Given the description of an element on the screen output the (x, y) to click on. 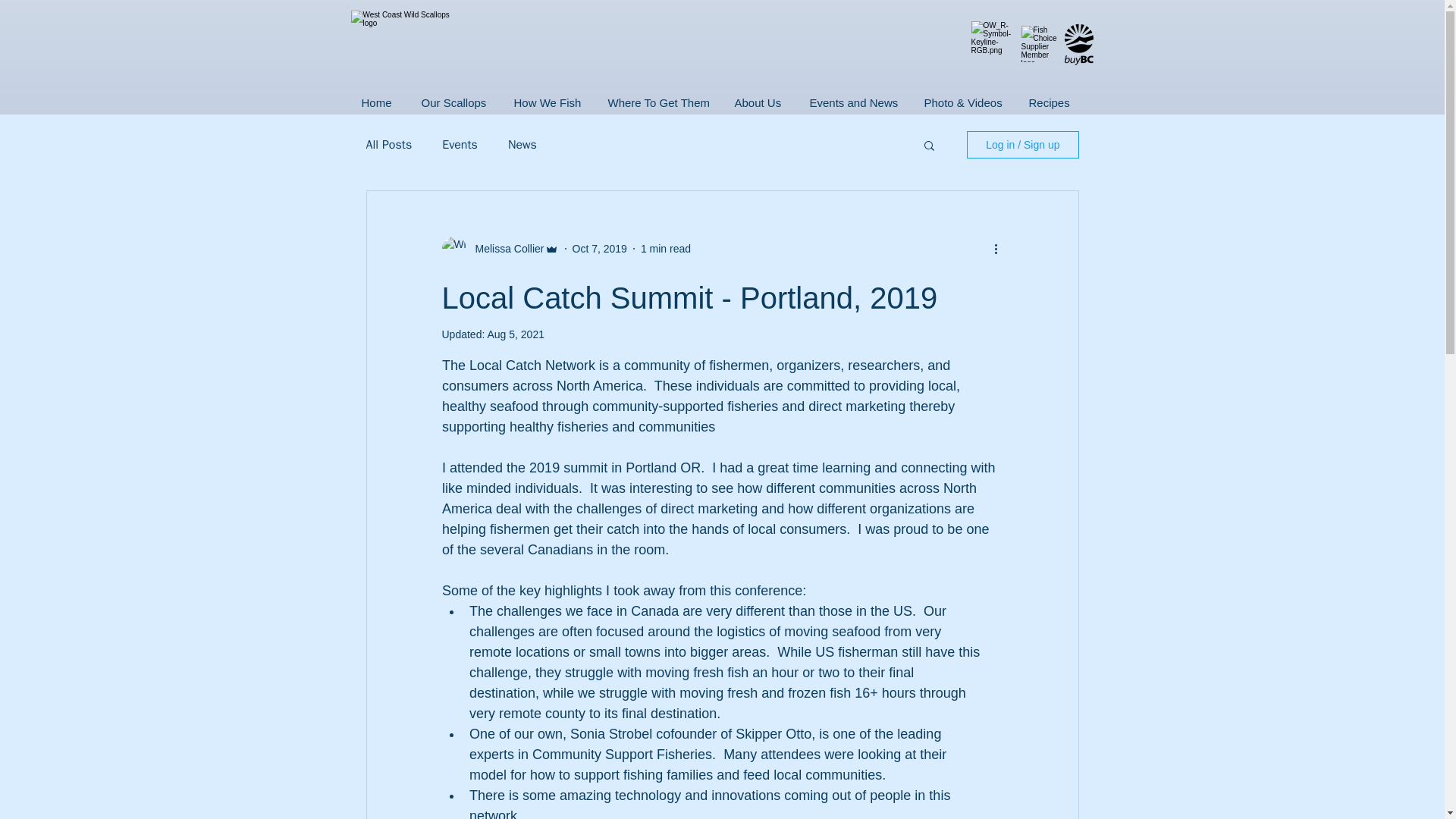
Events and News (851, 102)
Aug 5, 2021 (515, 334)
Events (459, 144)
All Posts (388, 144)
West Coast Wild Scallops is a member of Fish Choice (1038, 43)
Home (376, 102)
About Us (756, 102)
How We Fish (545, 102)
News (522, 144)
1 min read (665, 248)
Oct 7, 2019 (599, 248)
Where To Get Them (655, 102)
We are a proud partner of BuyBC (993, 44)
Our Scallops (452, 102)
Recipes (1047, 102)
